Given the description of an element on the screen output the (x, y) to click on. 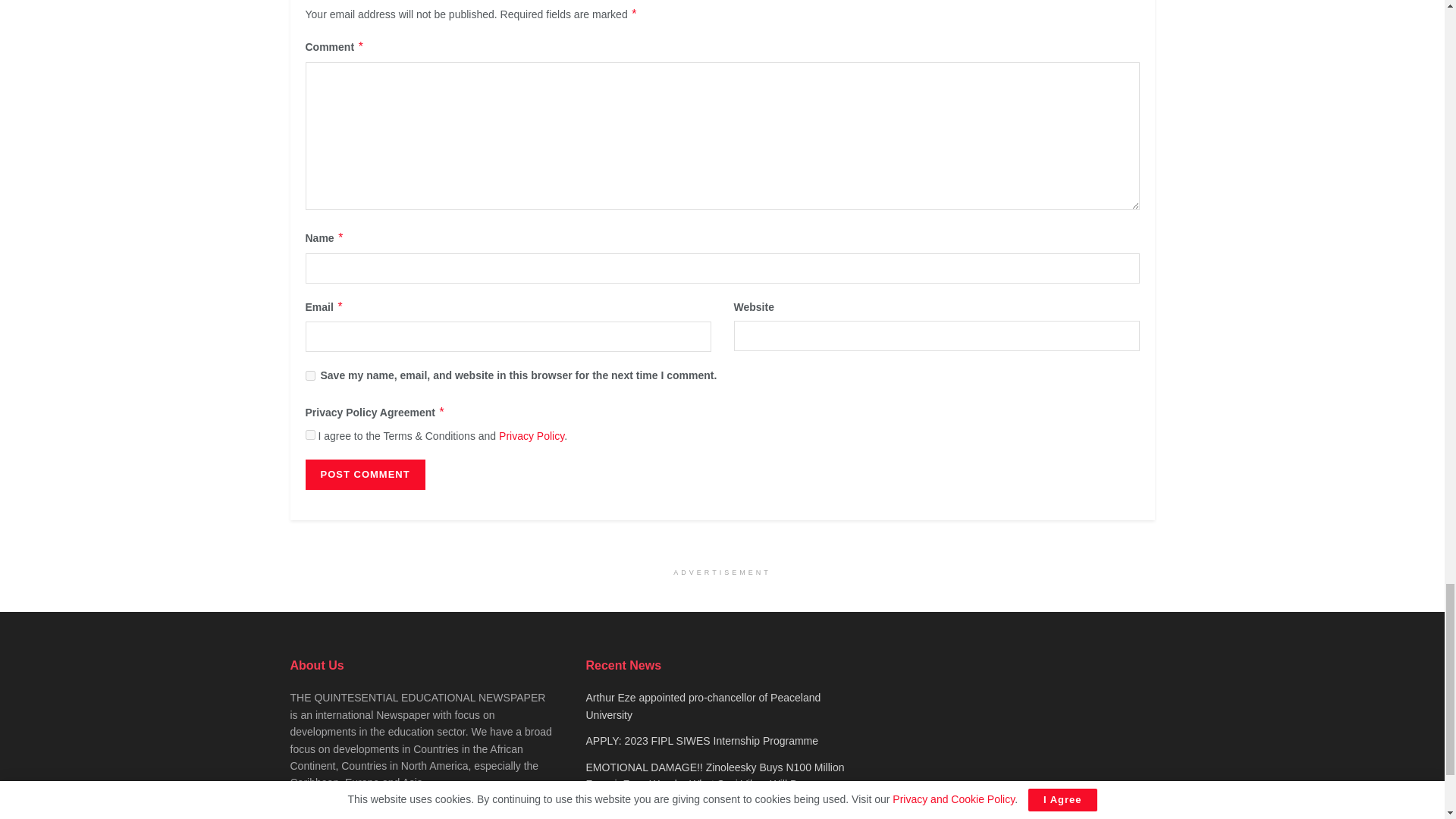
yes (309, 375)
Post Comment (364, 474)
on (309, 434)
